Given the description of an element on the screen output the (x, y) to click on. 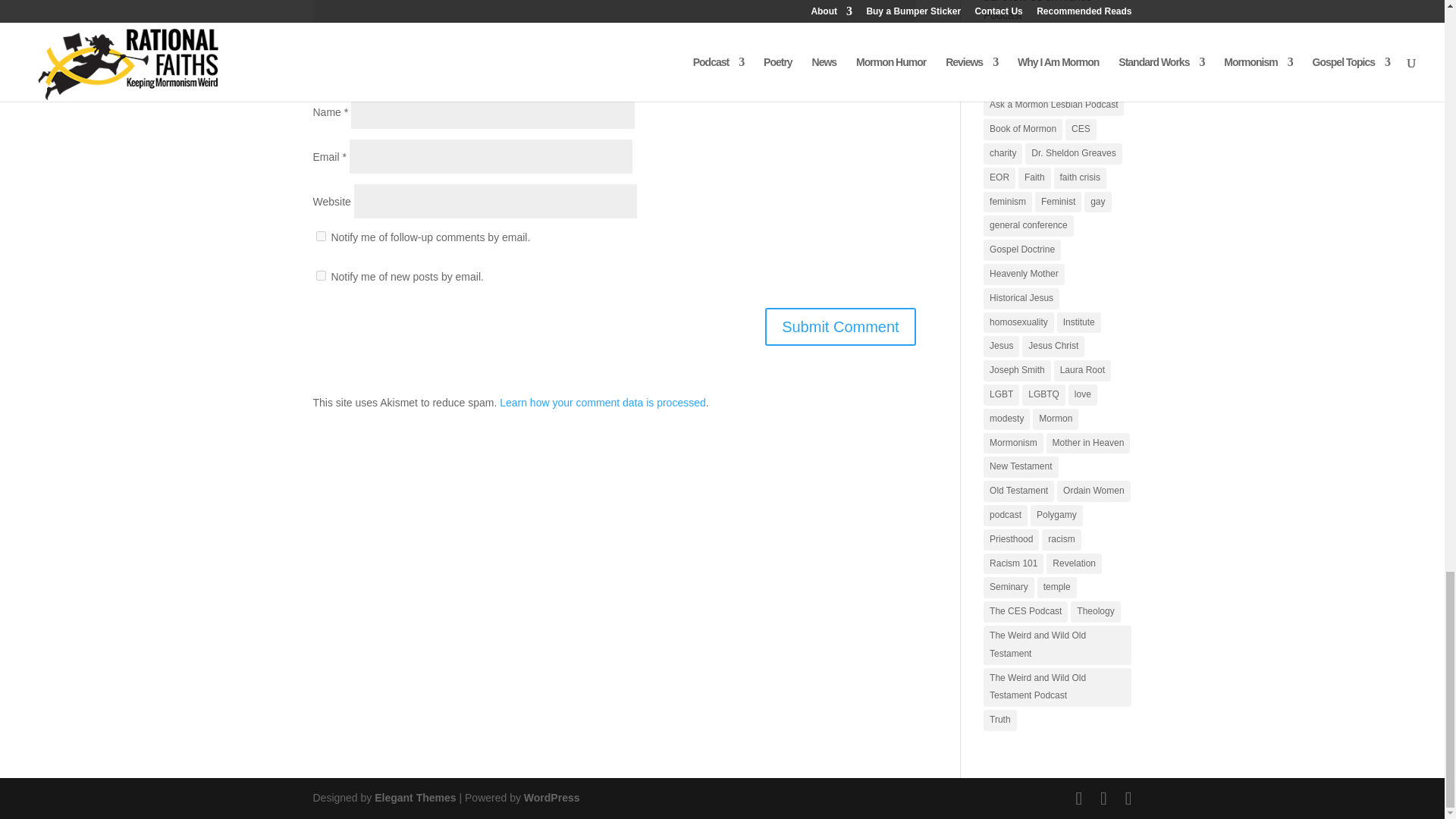
subscribe (319, 275)
Follow Us on iTunes Podcast (1054, 12)
Premium WordPress Themes (414, 797)
Submit Comment (840, 326)
subscribe (319, 235)
subscribe (319, 72)
